Given the description of an element on the screen output the (x, y) to click on. 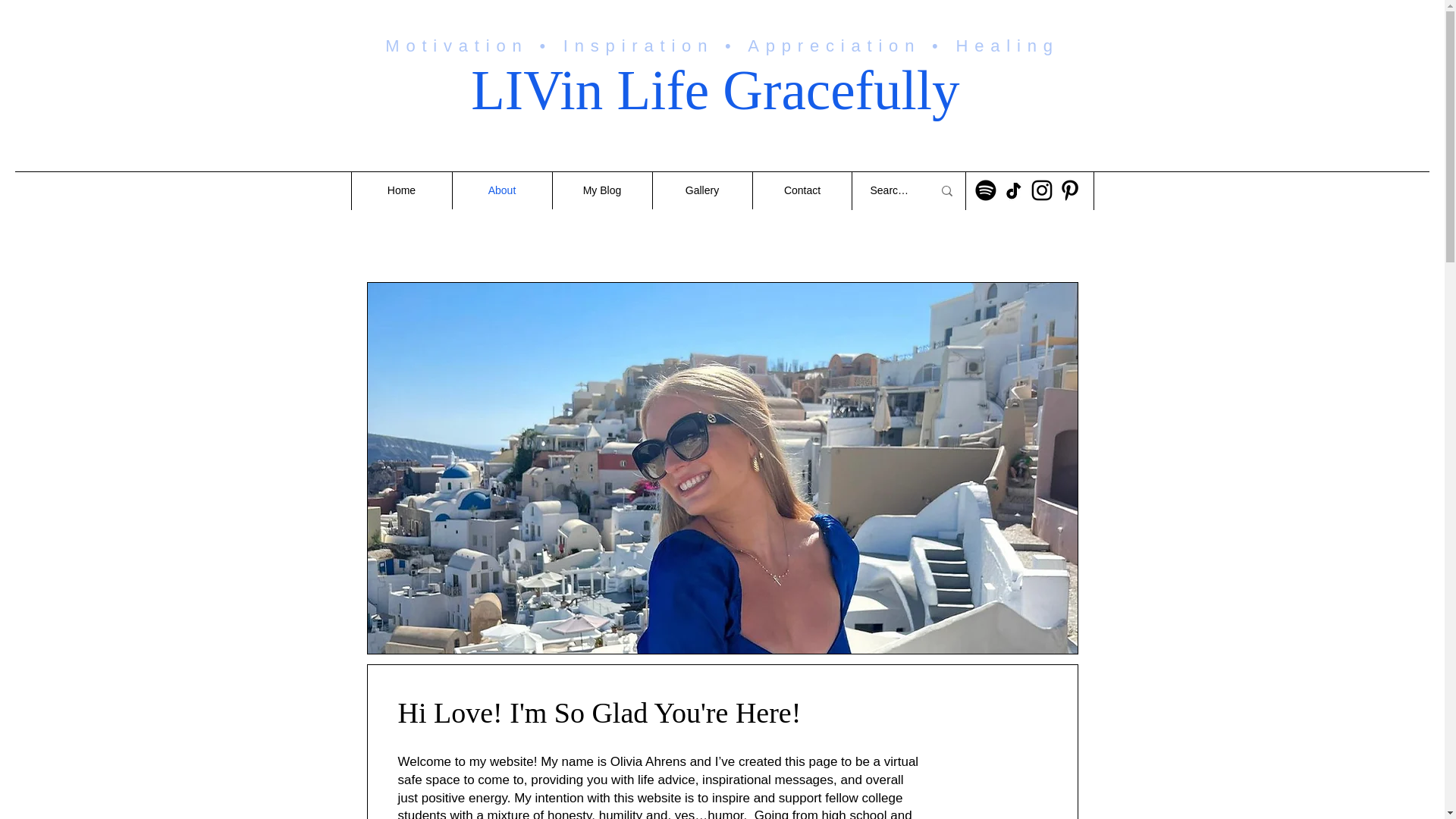
Contact (801, 190)
About (501, 190)
Gallery (702, 190)
My Blog (601, 190)
LIVin Life Gracefully  (721, 90)
Home (401, 190)
